Given the description of an element on the screen output the (x, y) to click on. 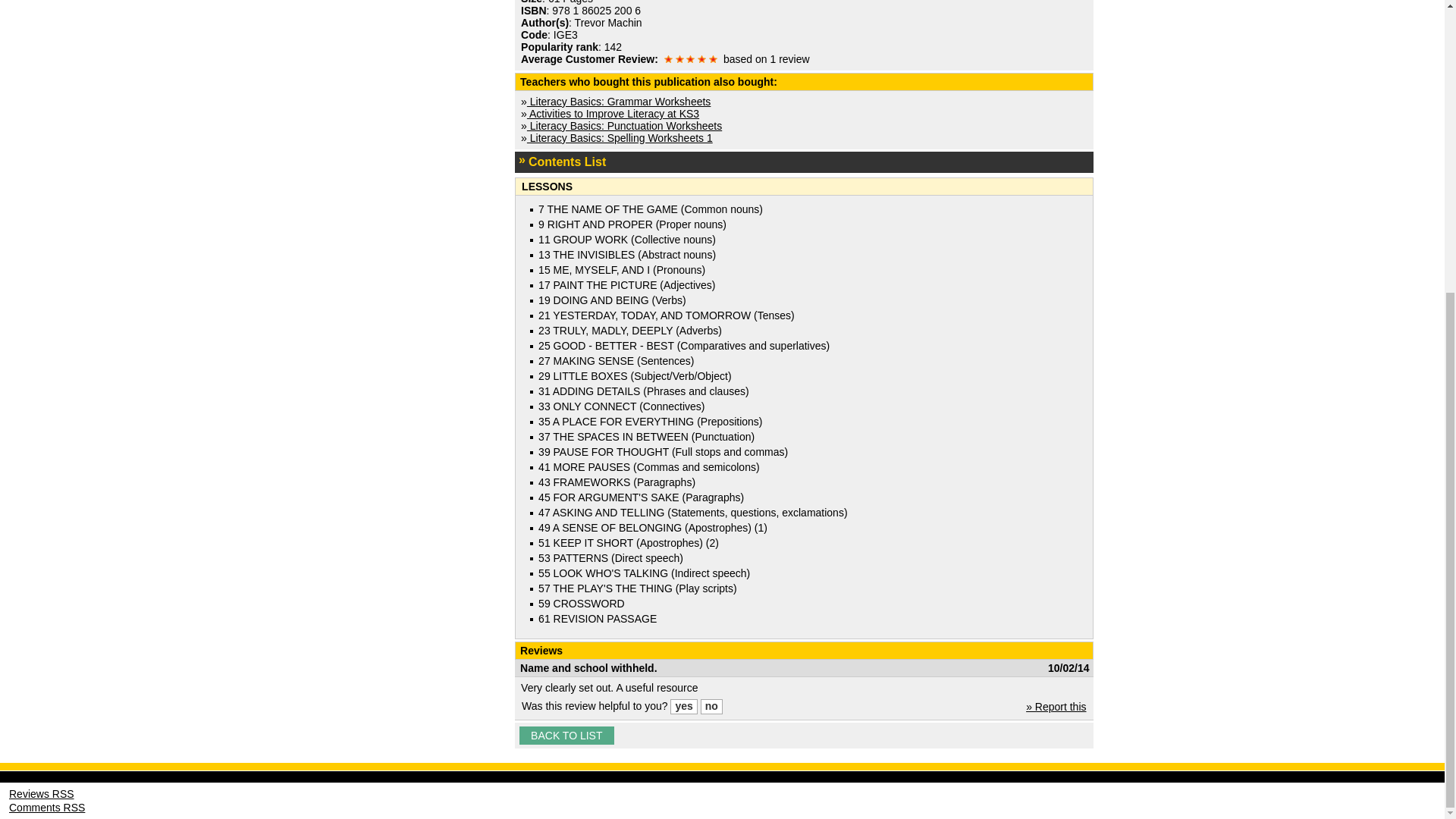
Activities to Improve Literacy at KS3 (612, 113)
yes (683, 706)
yes (683, 706)
Reviews RSS (41, 793)
Literacy Basics: Spelling Worksheets 1 (620, 137)
no (711, 706)
no (711, 706)
Literacy Basics: Grammar Worksheets (618, 101)
Comments RSS (46, 807)
Literacy Basics: Punctuation Worksheets (624, 125)
BACK TO LIST (565, 735)
